Given the description of an element on the screen output the (x, y) to click on. 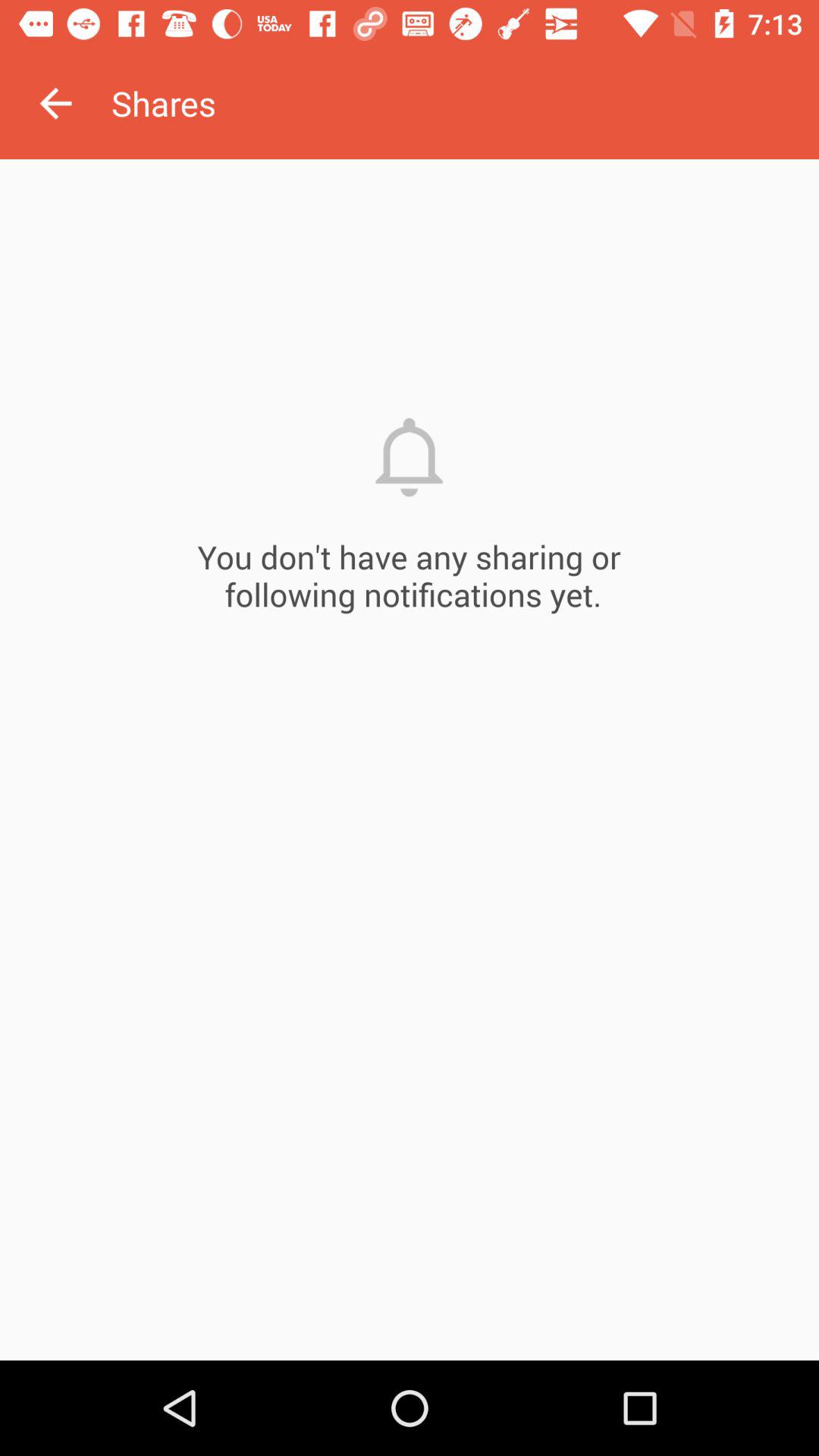
launch icon to the left of shares (55, 103)
